Given the description of an element on the screen output the (x, y) to click on. 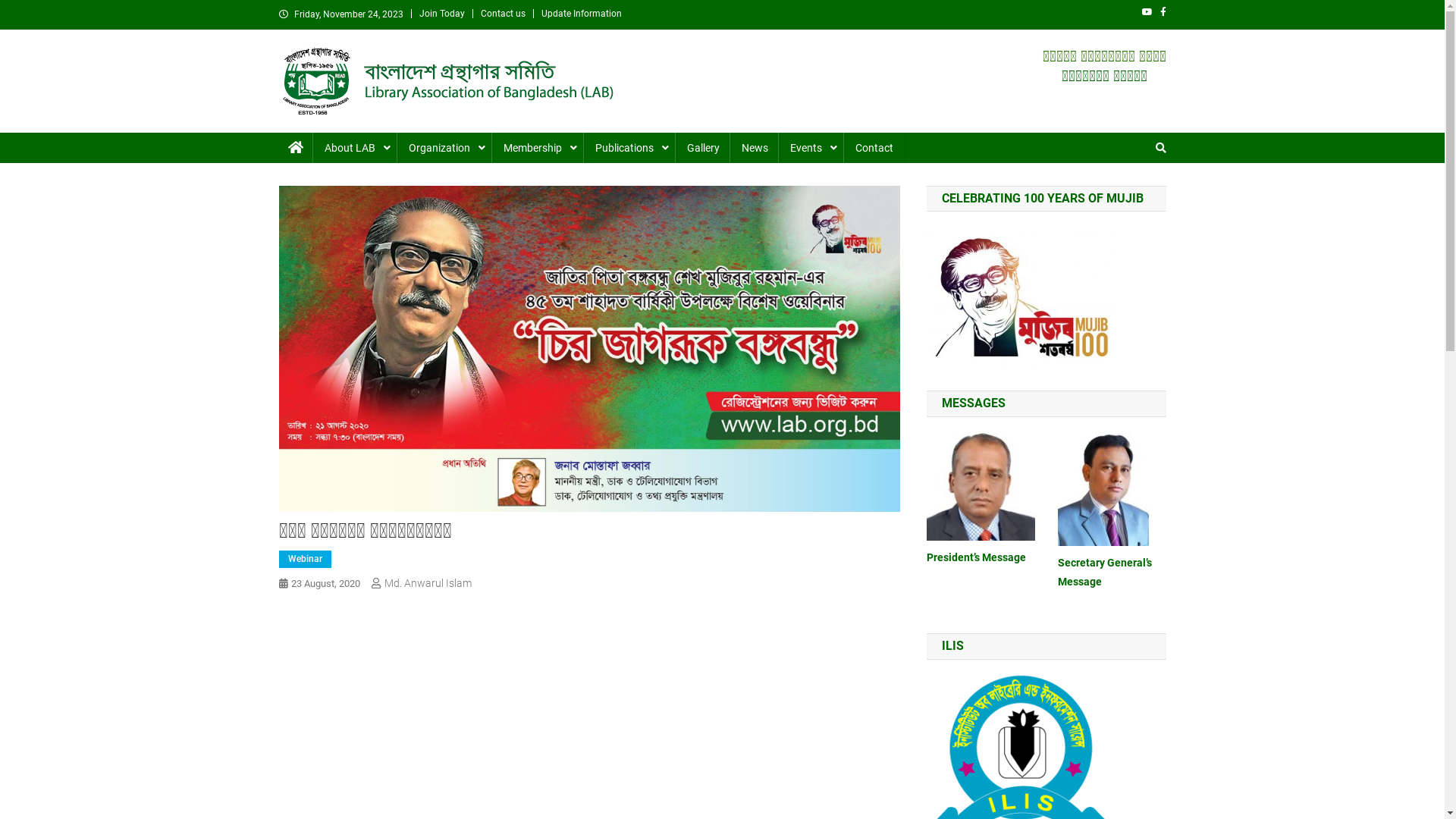
23 August, 2020 Element type: text (325, 583)
Celebrating 100 Years of Mujib Element type: hover (1021, 296)
Events Element type: text (811, 147)
Update Information Element type: text (581, 13)
News Element type: text (754, 147)
Gallery Element type: text (702, 147)
Contact Element type: text (874, 147)
Library Association of Bangladesh (LAB) Element type: text (498, 130)
Webinar Element type: text (305, 559)
Join Today Element type: text (441, 13)
Md. Anwarul Islam Element type: text (426, 583)
Organization Element type: text (443, 147)
Contact us Element type: text (502, 13)
Membership Element type: text (538, 147)
Publications Element type: text (629, 147)
About LAB Element type: text (355, 147)
Search Element type: text (1133, 198)
